Given the description of an element on the screen output the (x, y) to click on. 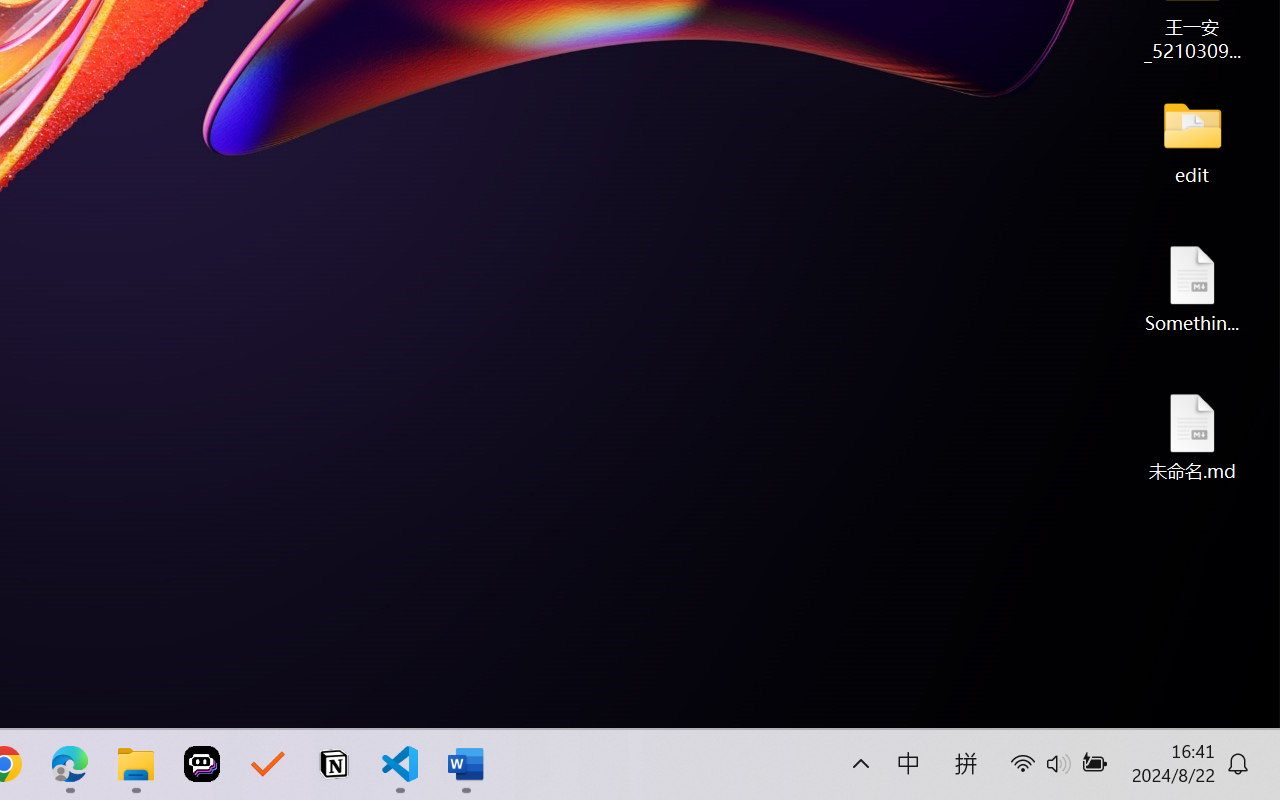
edit (1192, 140)
Something.md (1192, 288)
